Given the description of an element on the screen output the (x, y) to click on. 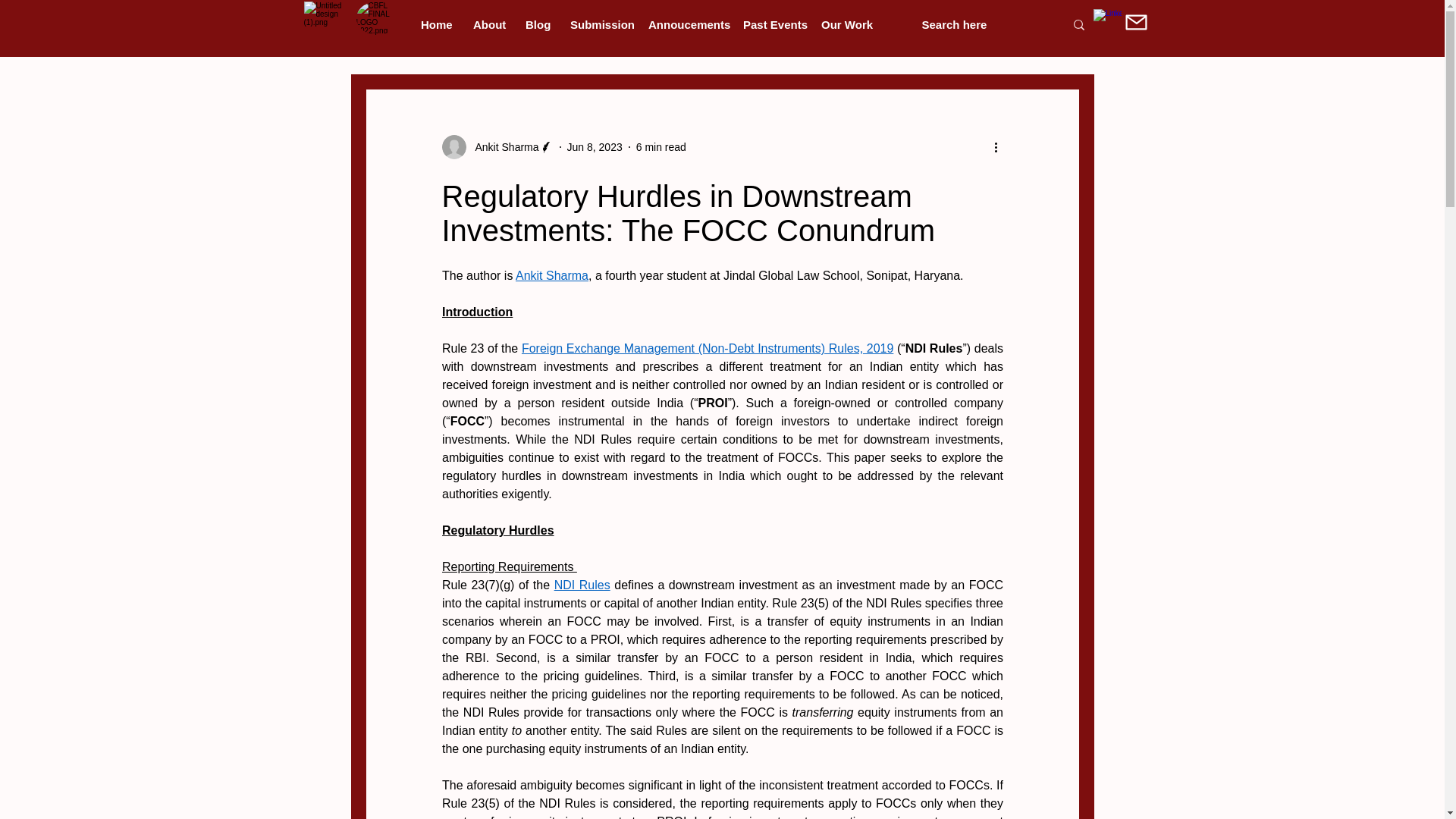
Ankit Sharma (551, 275)
6 min read (660, 146)
Submission (598, 24)
Blog (536, 24)
Home (435, 24)
Ankit Sharma (501, 147)
NDI Rules (581, 584)
Jun 8, 2023 (595, 146)
Ankit Sharma (497, 146)
